Given the description of an element on the screen output the (x, y) to click on. 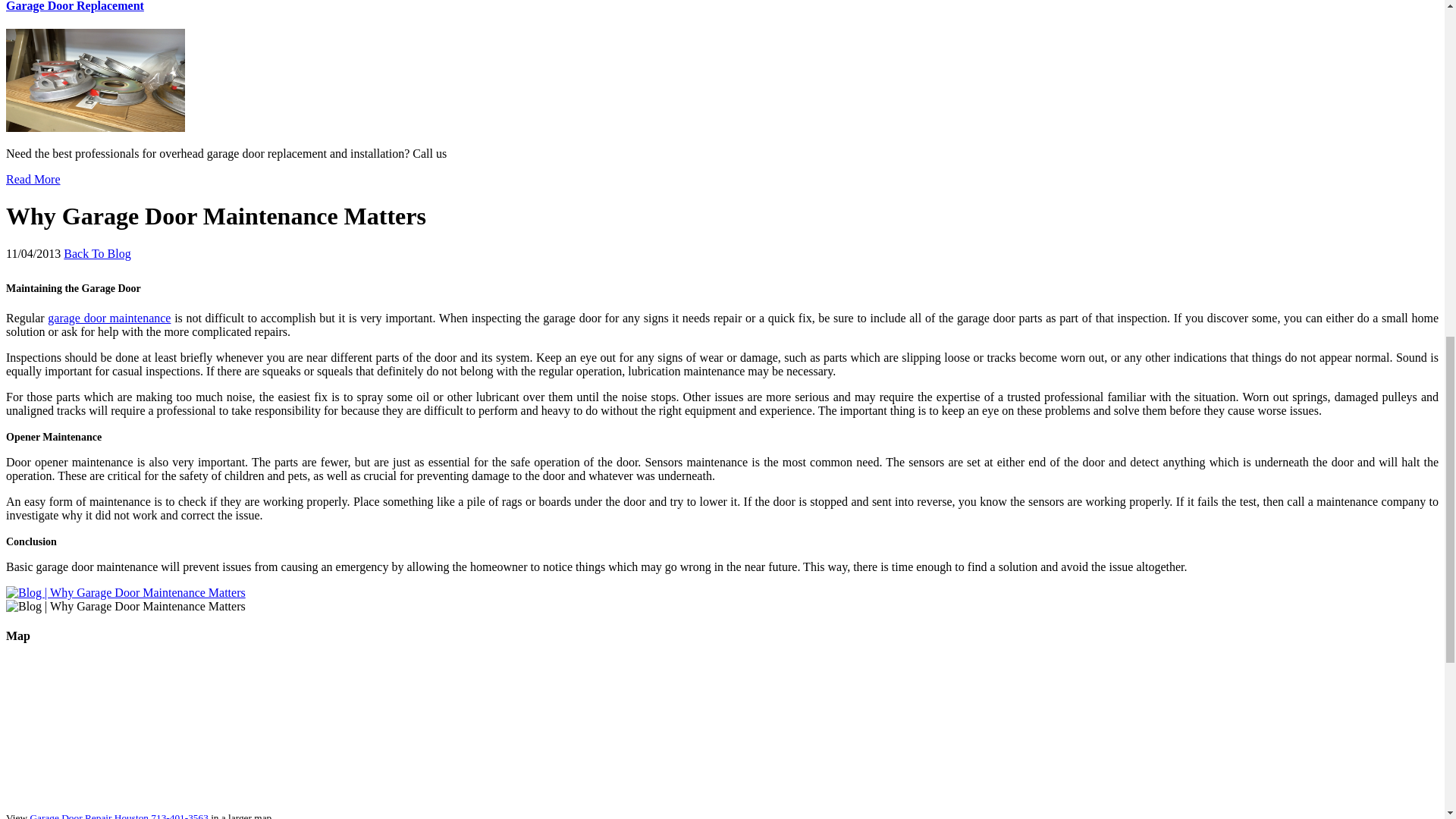
Banner (125, 592)
garage door maintenance (109, 318)
Garage Door Replacement (94, 127)
Read More (33, 178)
Back To Blog (97, 253)
Read More (33, 178)
Garage Door Replacement (74, 6)
garage door maintenance (109, 318)
